Given the description of an element on the screen output the (x, y) to click on. 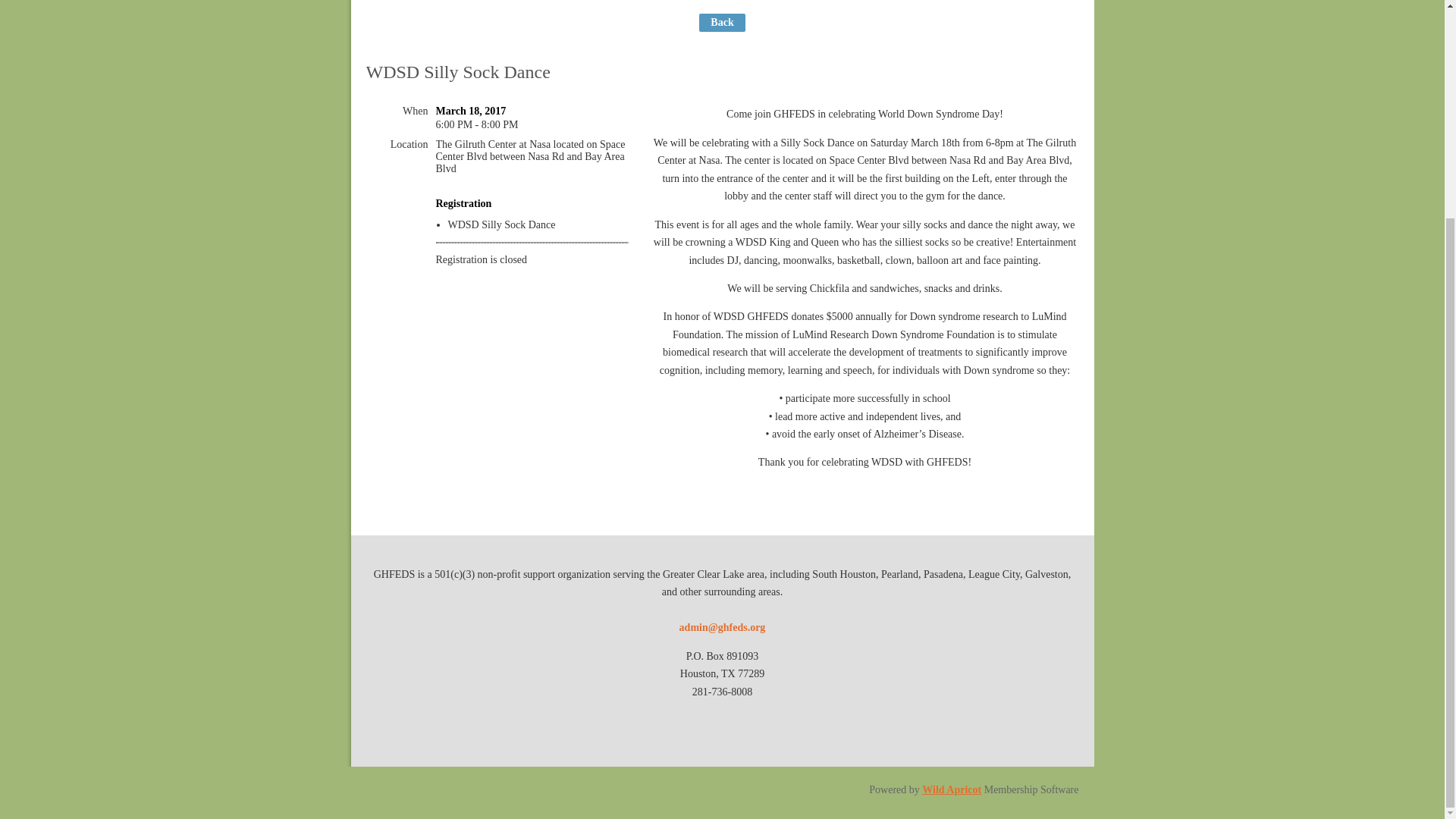
Back (721, 22)
Wild Apricot (951, 789)
